Given the description of an element on the screen output the (x, y) to click on. 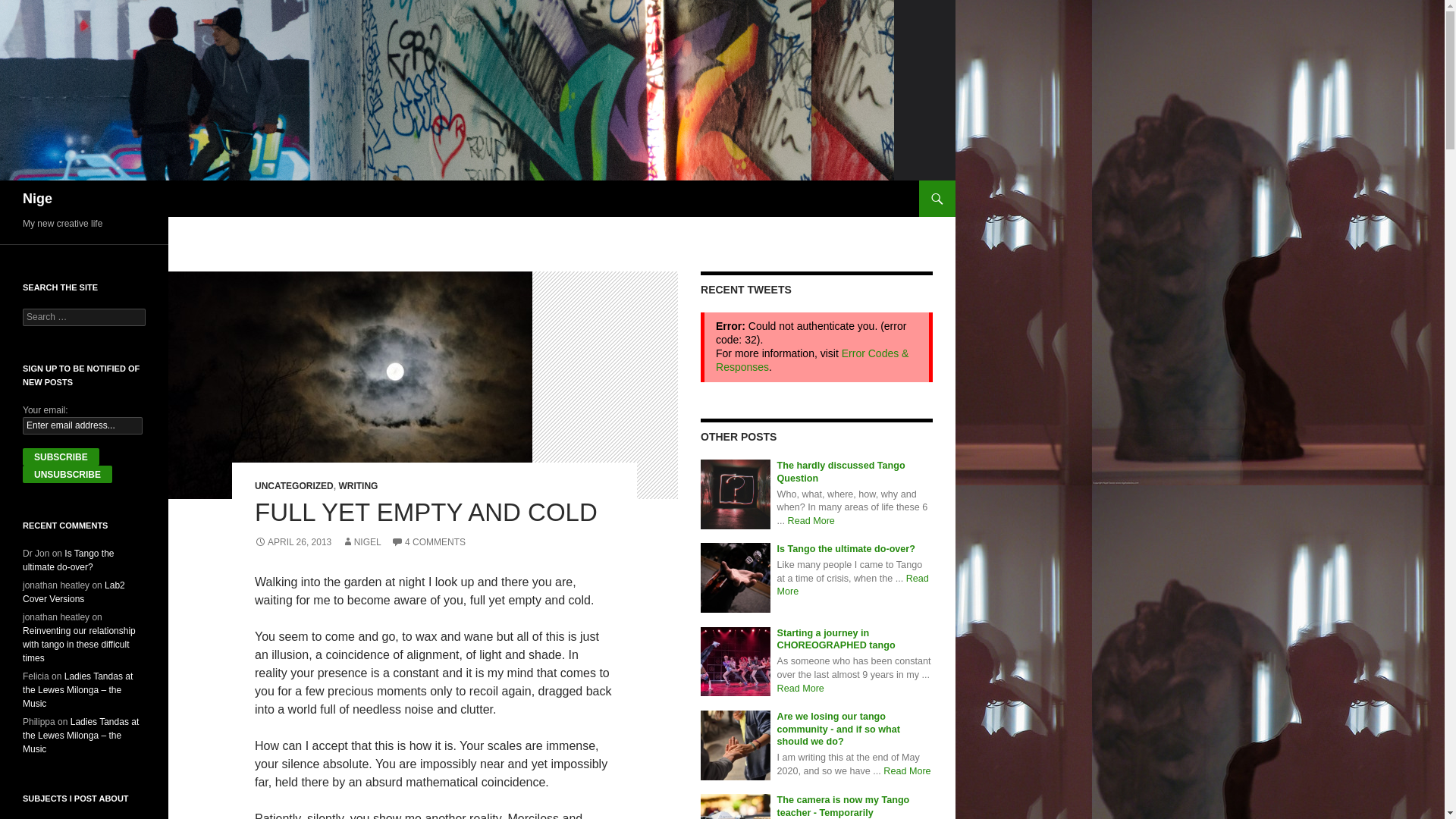
Read More (906, 770)
Starting a journey in CHOREOGRAPHED tango (836, 639)
NIGEL (361, 542)
Read More (800, 687)
4 COMMENTS (428, 542)
UNCATEGORIZED (293, 485)
Subscribe (61, 456)
Unsubscribe (67, 474)
Read More (810, 520)
Starting a journey in CHOREOGRAPHED tango (836, 639)
Is Tango the ultimate do-over? (846, 548)
Nige (37, 198)
Read More (852, 585)
The hardly discussed Tango Question (735, 493)
